Given the description of an element on the screen output the (x, y) to click on. 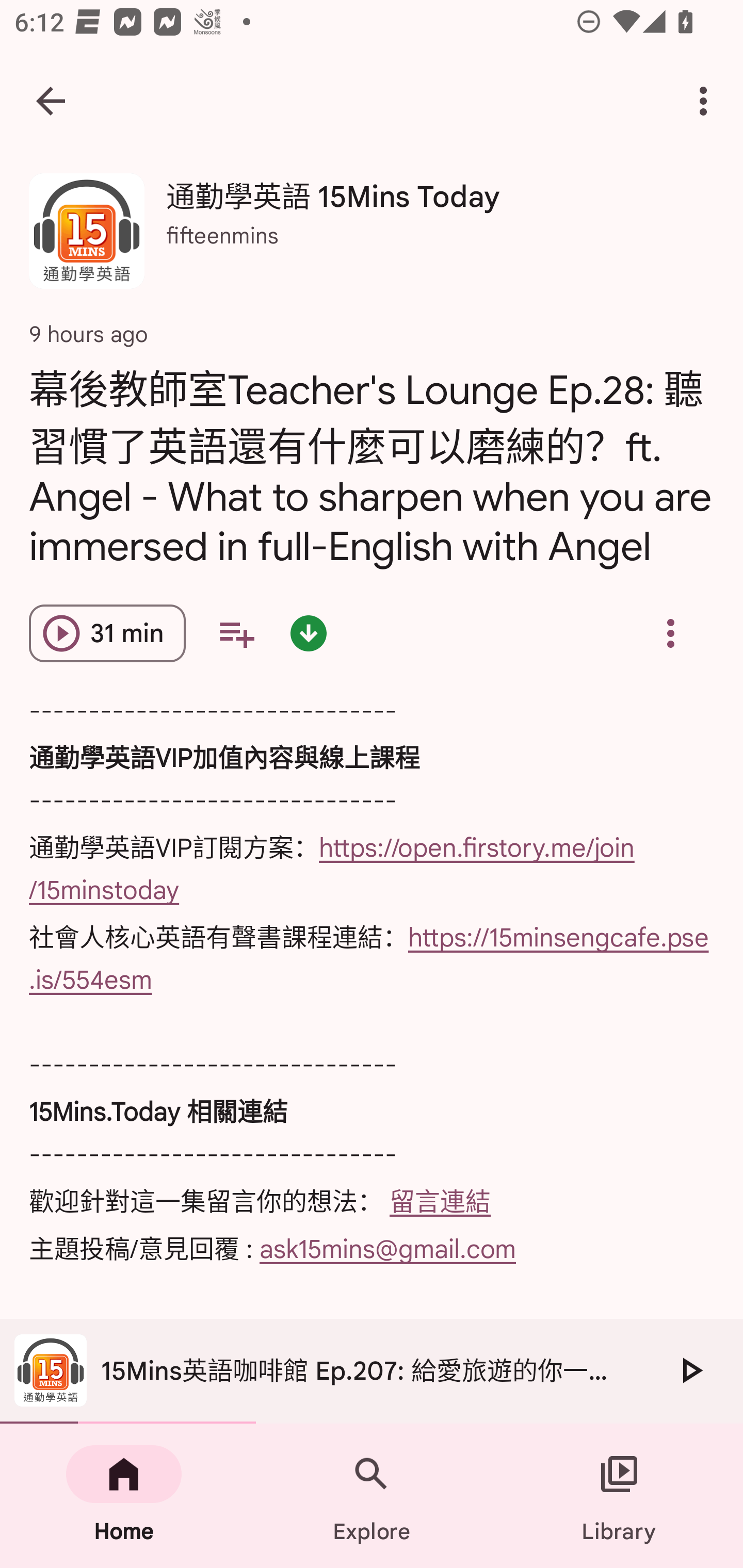
Navigate up (50, 101)
More options (706, 101)
通勤學英語 15Mins Today 通勤學英語 15Mins Today fifteenmins (371, 238)
Add to your queue (235, 633)
Episode downloaded - double tap for options (308, 633)
Overflow menu (670, 633)
Play (690, 1370)
Explore (371, 1495)
Library (619, 1495)
